Given the description of an element on the screen output the (x, y) to click on. 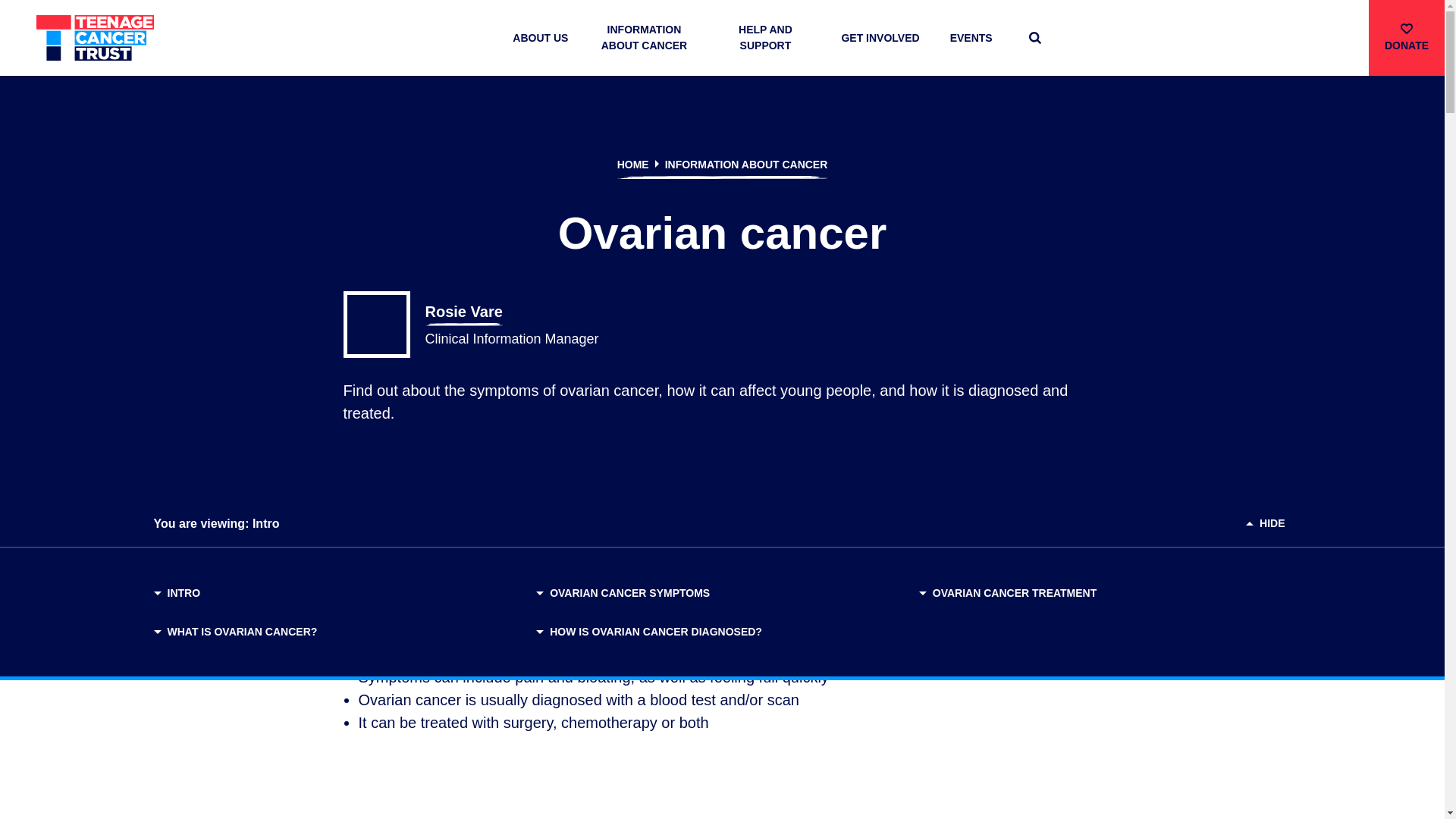
ABOUT US (539, 38)
INFORMATION ABOUT CANCER (643, 38)
HELP AND SUPPORT (764, 38)
